Given the description of an element on the screen output the (x, y) to click on. 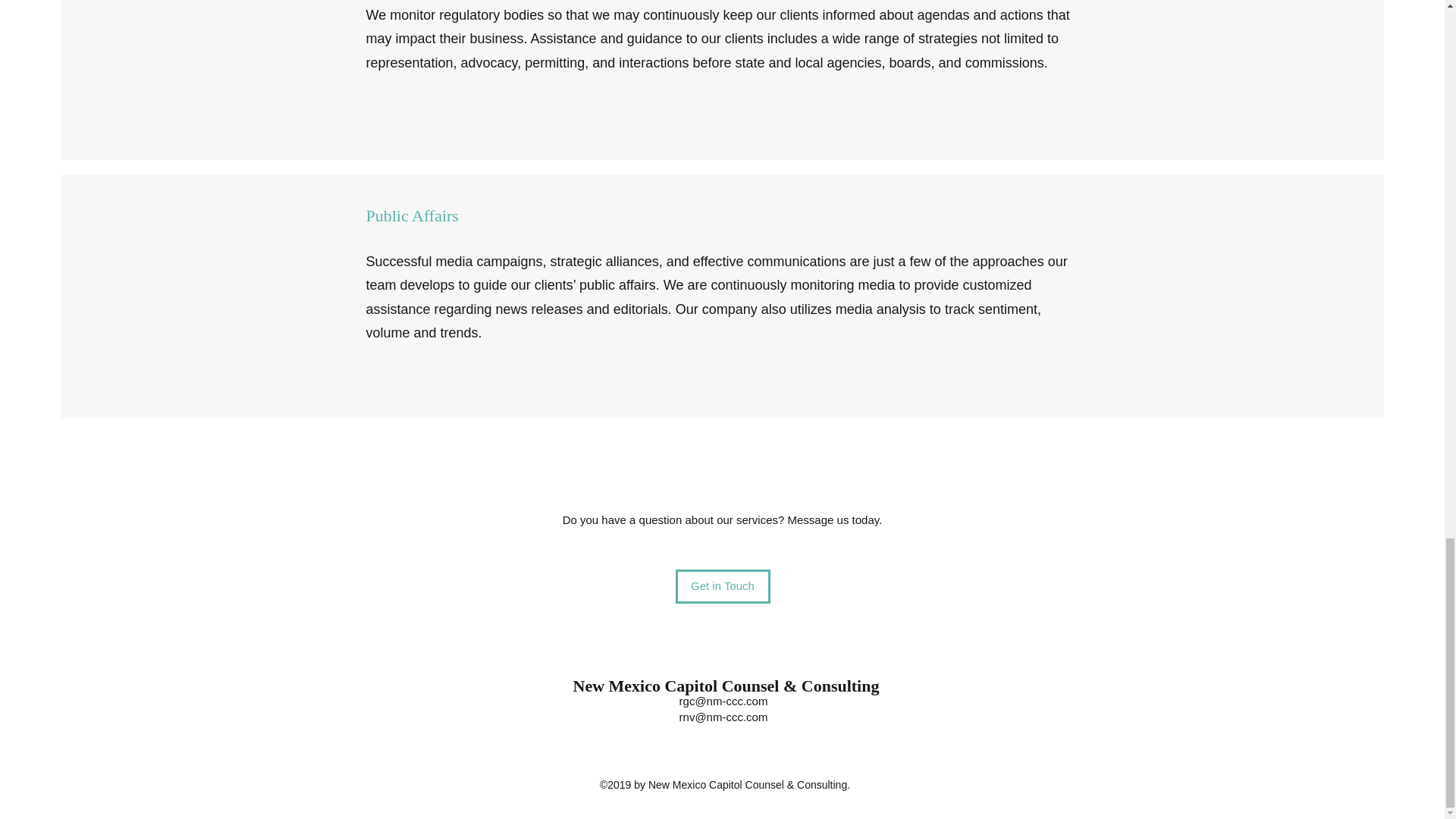
Get in Touch (722, 586)
